Given the description of an element on the screen output the (x, y) to click on. 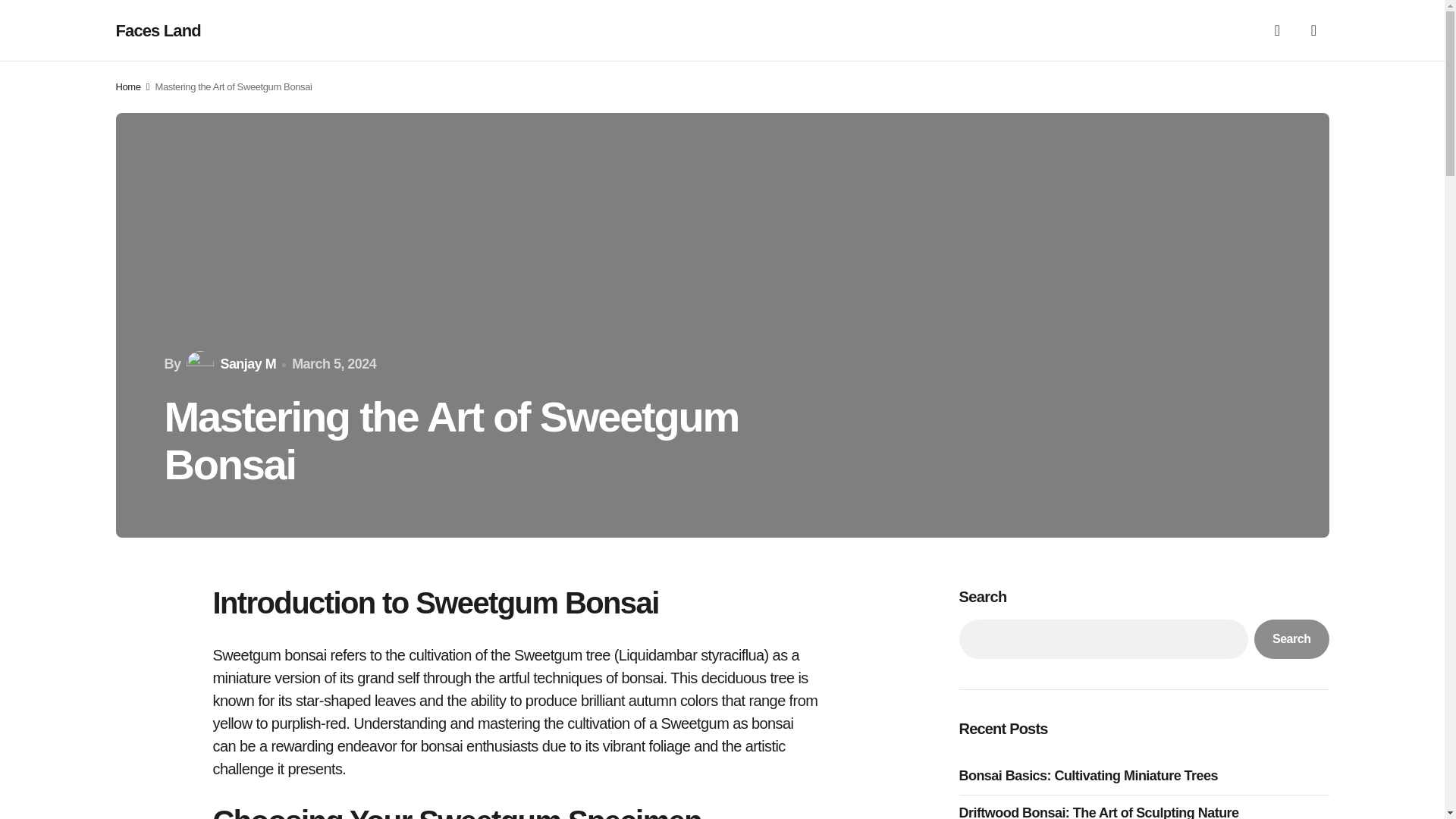
Home (127, 86)
Driftwood Bonsai: The Art of Sculpting Nature (1102, 811)
Faces Land (157, 30)
Search (1291, 638)
Sanjay M (229, 364)
Bonsai Basics: Cultivating Miniature Trees (1091, 775)
